Given the description of an element on the screen output the (x, y) to click on. 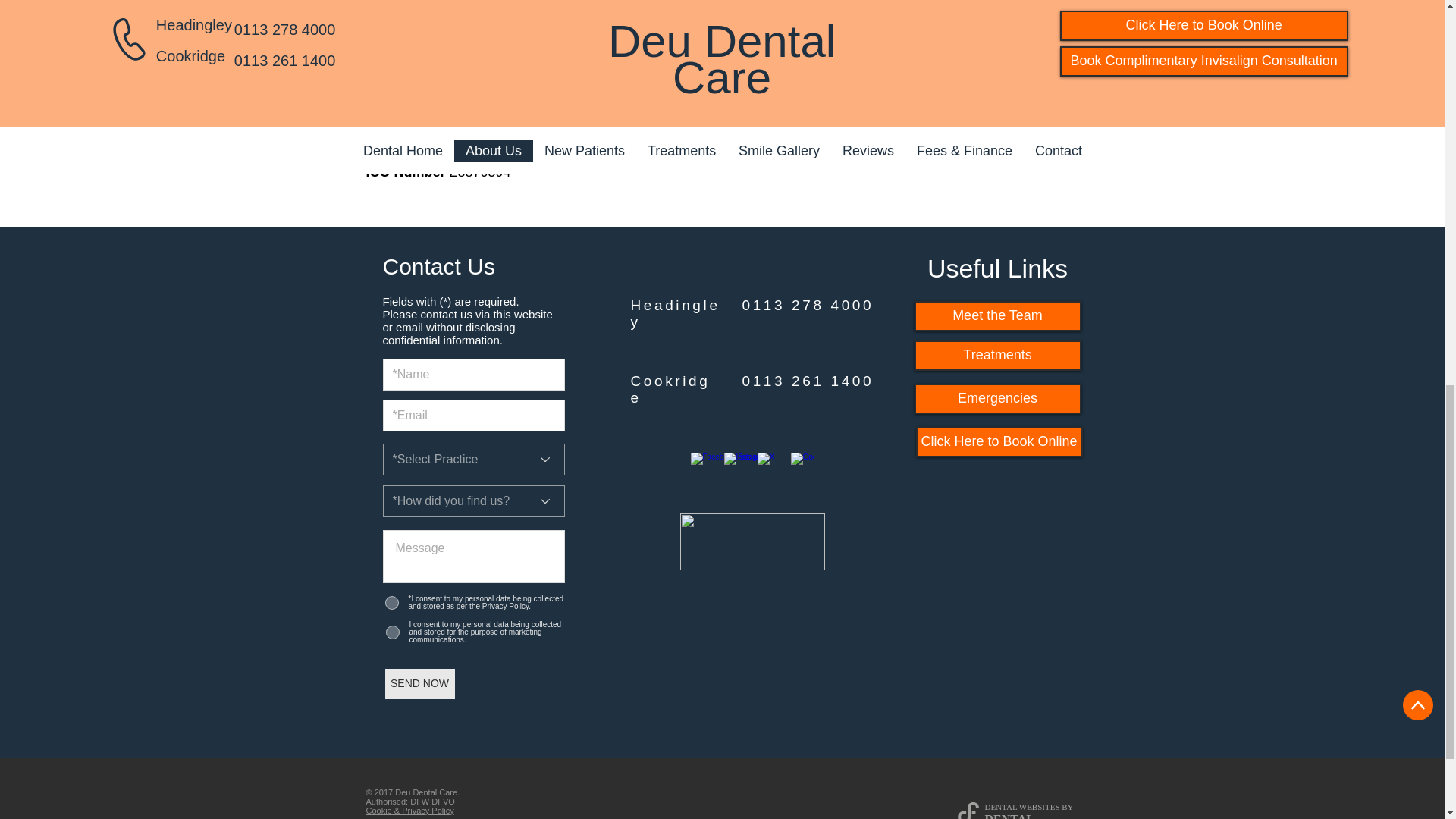
DENTAL WEBSITES (1021, 806)
SEND NOW (419, 684)
Emergencies (997, 399)
Treatments (997, 355)
0113 278 4000 (807, 304)
DENTAL FOCUS (1008, 816)
Meet the Team (997, 316)
Privacy Policy. (505, 605)
0113 261 1400 (807, 381)
Click Here to Book Online (999, 441)
